Given the description of an element on the screen output the (x, y) to click on. 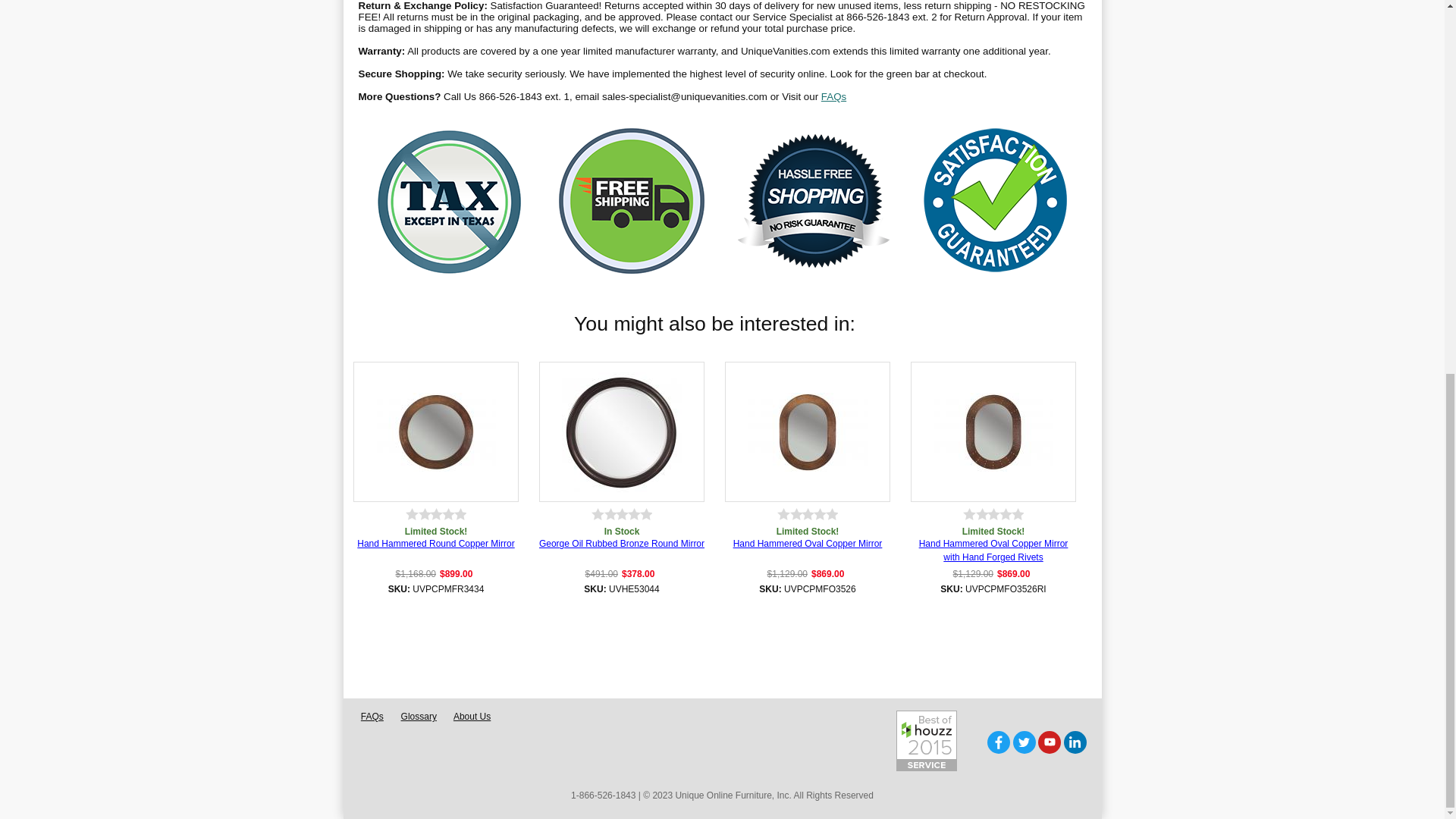
Twitter (1023, 741)
